Given the description of an element on the screen output the (x, y) to click on. 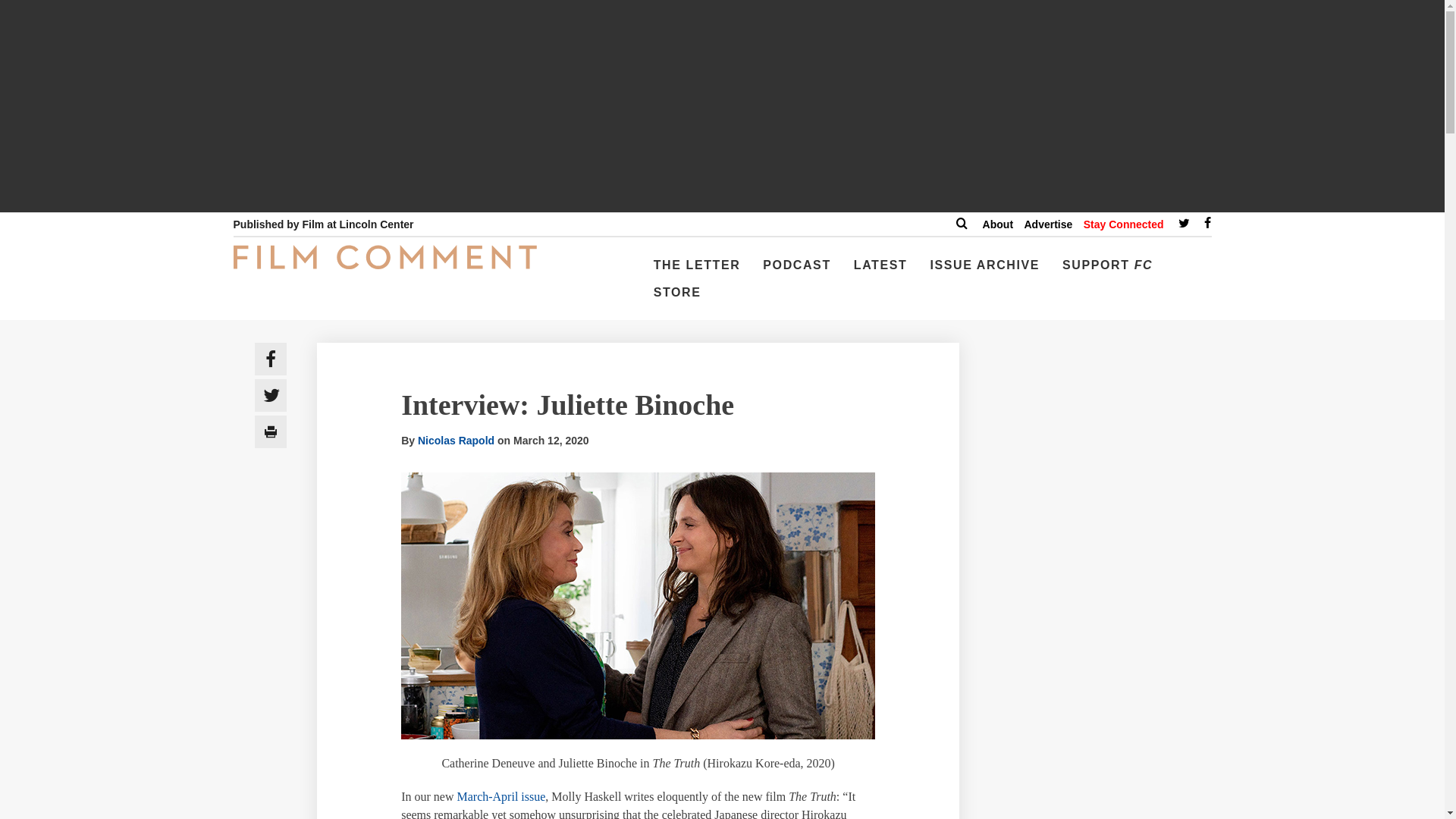
Advertise (1047, 224)
Nicolas Rapold (456, 440)
Stay Connected (1123, 224)
STORE (677, 298)
LATEST (880, 271)
March-April issue (500, 796)
ISSUE ARCHIVE (983, 271)
PODCAST (796, 271)
Published by Film at Lincoln Center (322, 224)
THE LETTER (697, 271)
